Given the description of an element on the screen output the (x, y) to click on. 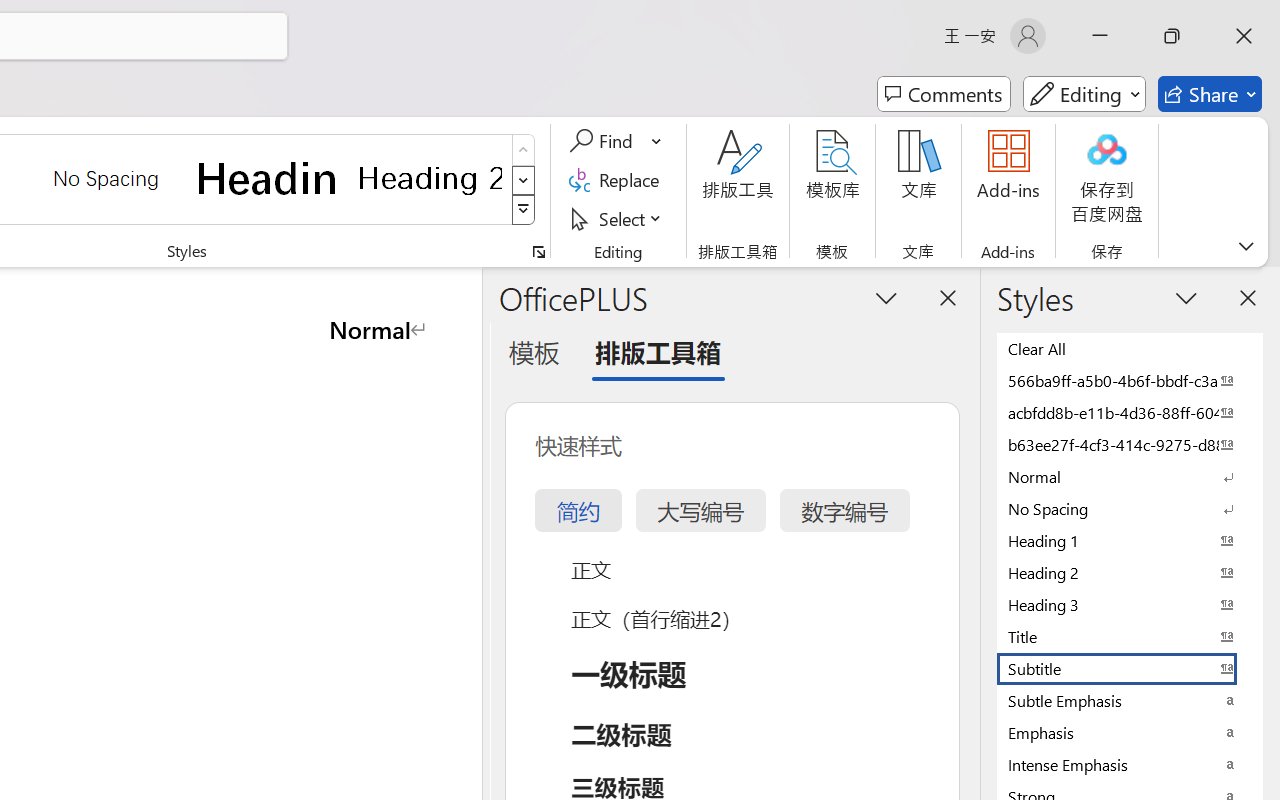
Share (1210, 94)
Heading 1 (267, 178)
Title (1130, 636)
acbfdd8b-e11b-4d36-88ff-6049b138f862 (1130, 412)
Replace... (617, 179)
Task Pane Options (886, 297)
Normal (1130, 476)
Intense Emphasis (1130, 764)
